Given the description of an element on the screen output the (x, y) to click on. 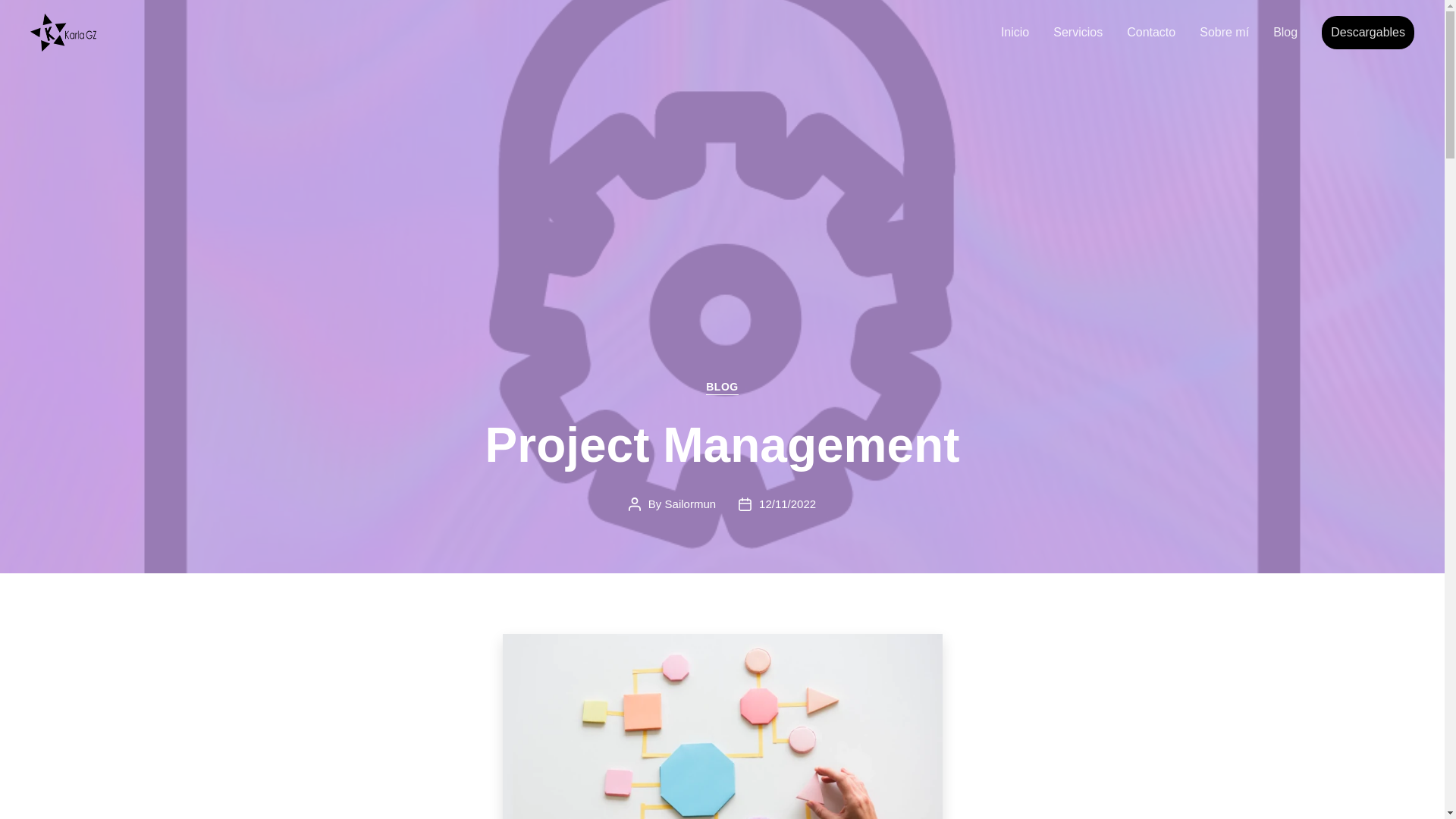
Blog (1284, 32)
Descargables (1367, 32)
Contacto (1150, 32)
Sailormun (690, 503)
Inicio (1015, 32)
BLOG (722, 387)
Servicios (1077, 32)
become a project manager karlagz.com (722, 726)
